Given the description of an element on the screen output the (x, y) to click on. 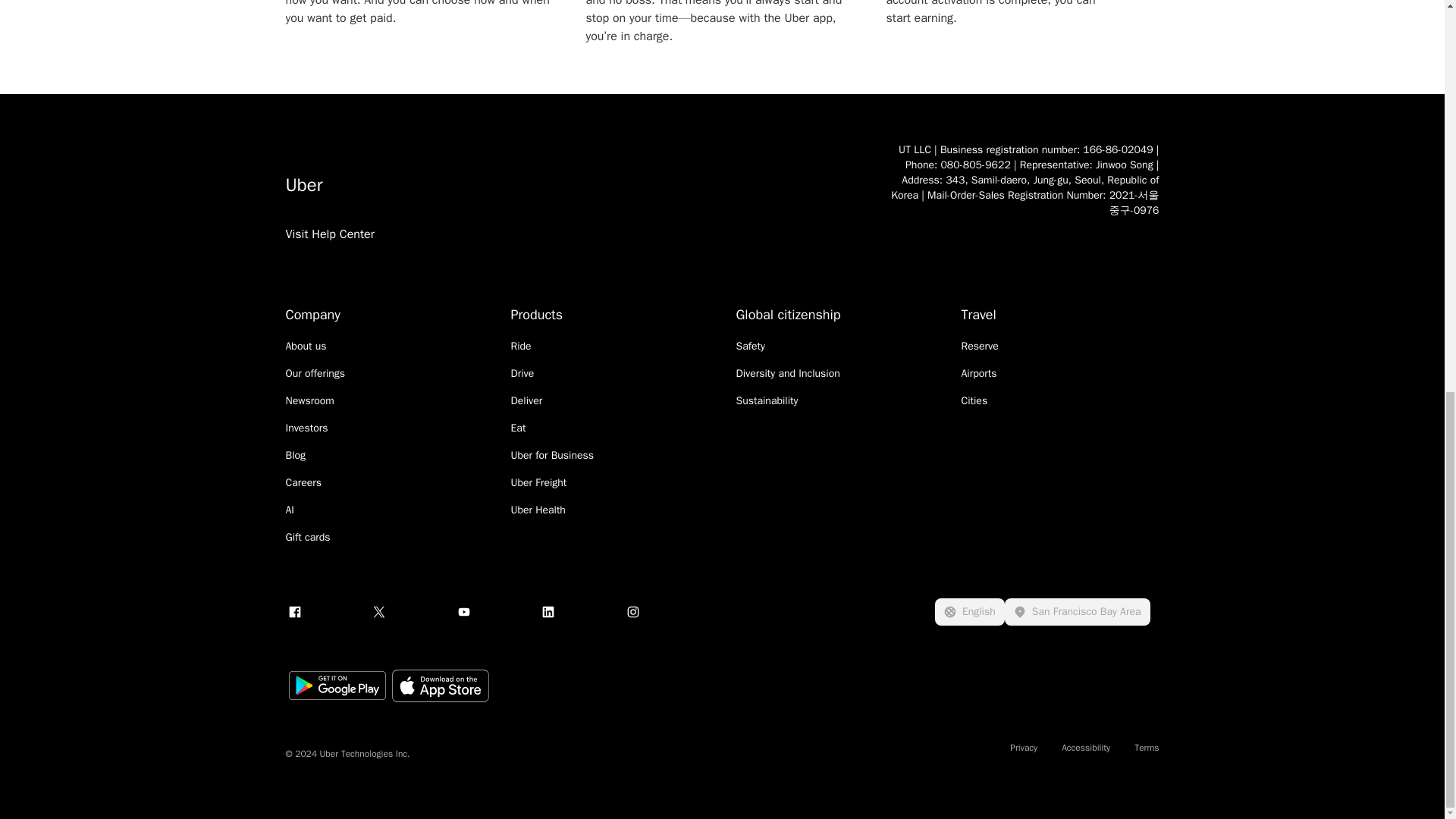
English (969, 611)
Sustainability (766, 400)
Uber Freight (539, 482)
About us (305, 346)
Investors (306, 427)
Uber (572, 184)
Our offerings (315, 373)
Diversity and Inclusion (787, 373)
Newsroom (309, 400)
Safety (749, 346)
Reserve (979, 346)
Ride (521, 346)
Uber for Business (552, 455)
Deliver (527, 400)
Eat (518, 427)
